Given the description of an element on the screen output the (x, y) to click on. 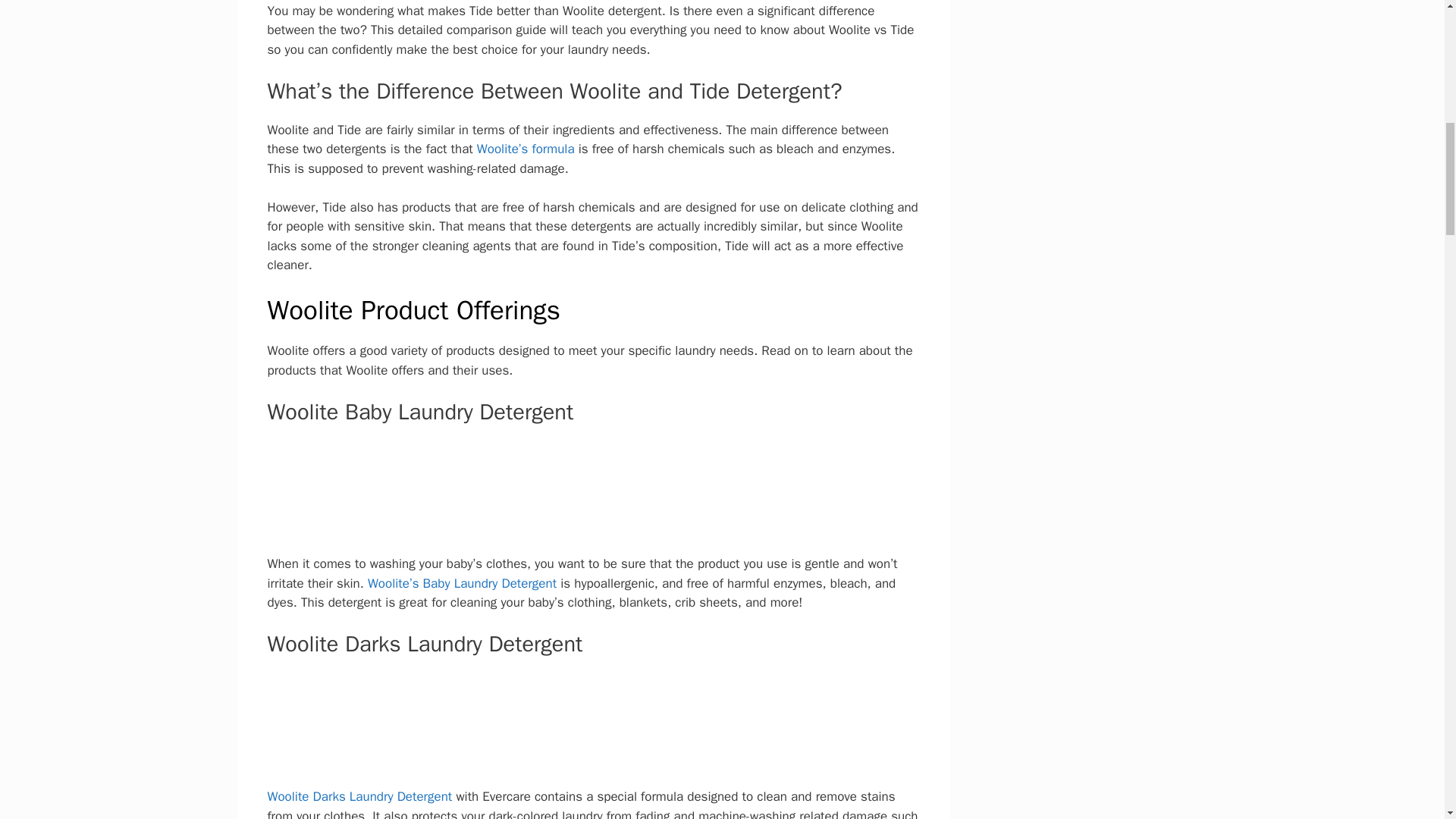
Woolite Darks Laundry Detergent (360, 796)
